Given the description of an element on the screen output the (x, y) to click on. 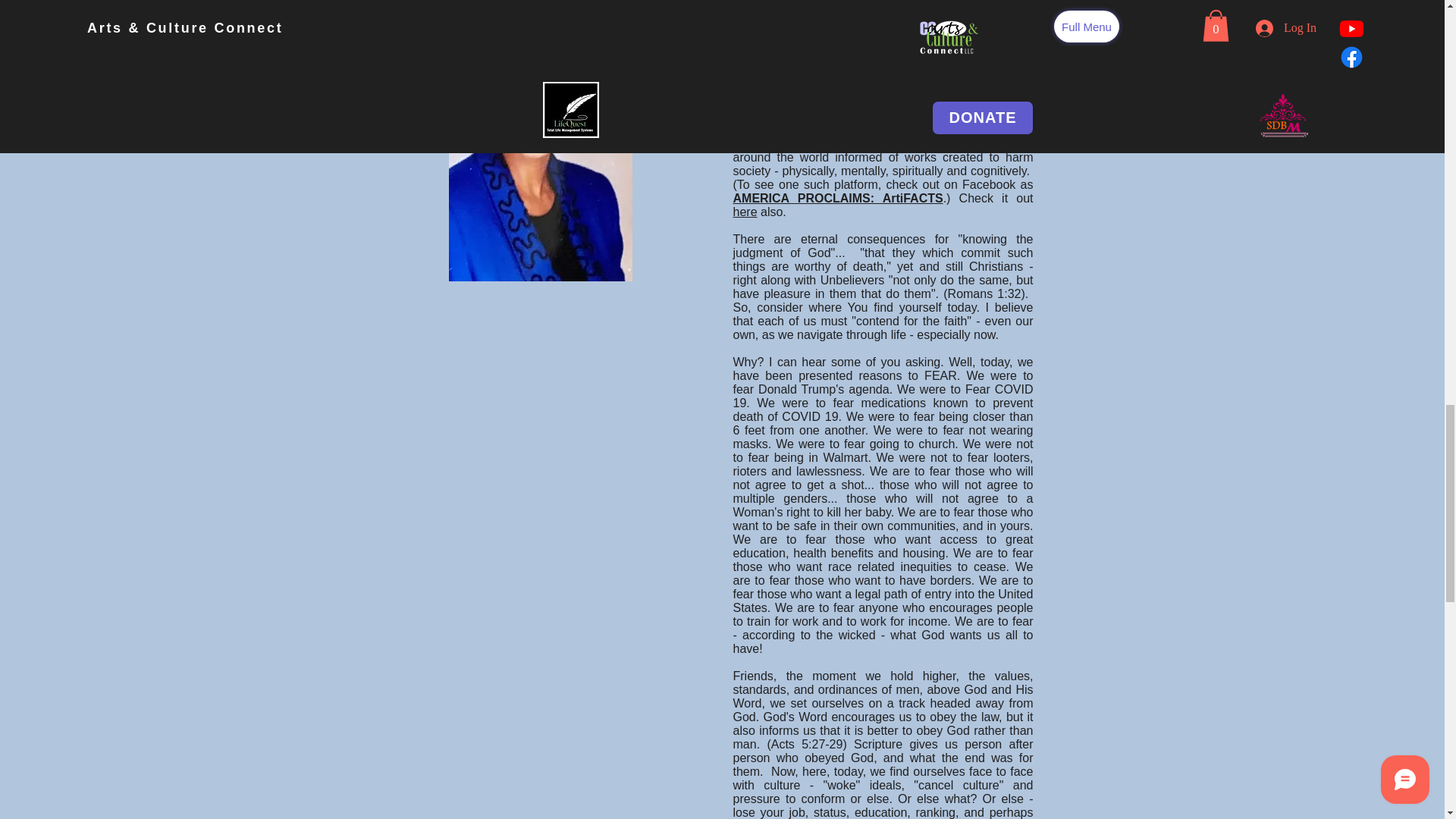
AMERICA PROCLAIMS: ArtiFACTS (837, 197)
AMERICA PROCLAIMS (798, 102)
here (744, 211)
